Given the description of an element on the screen output the (x, y) to click on. 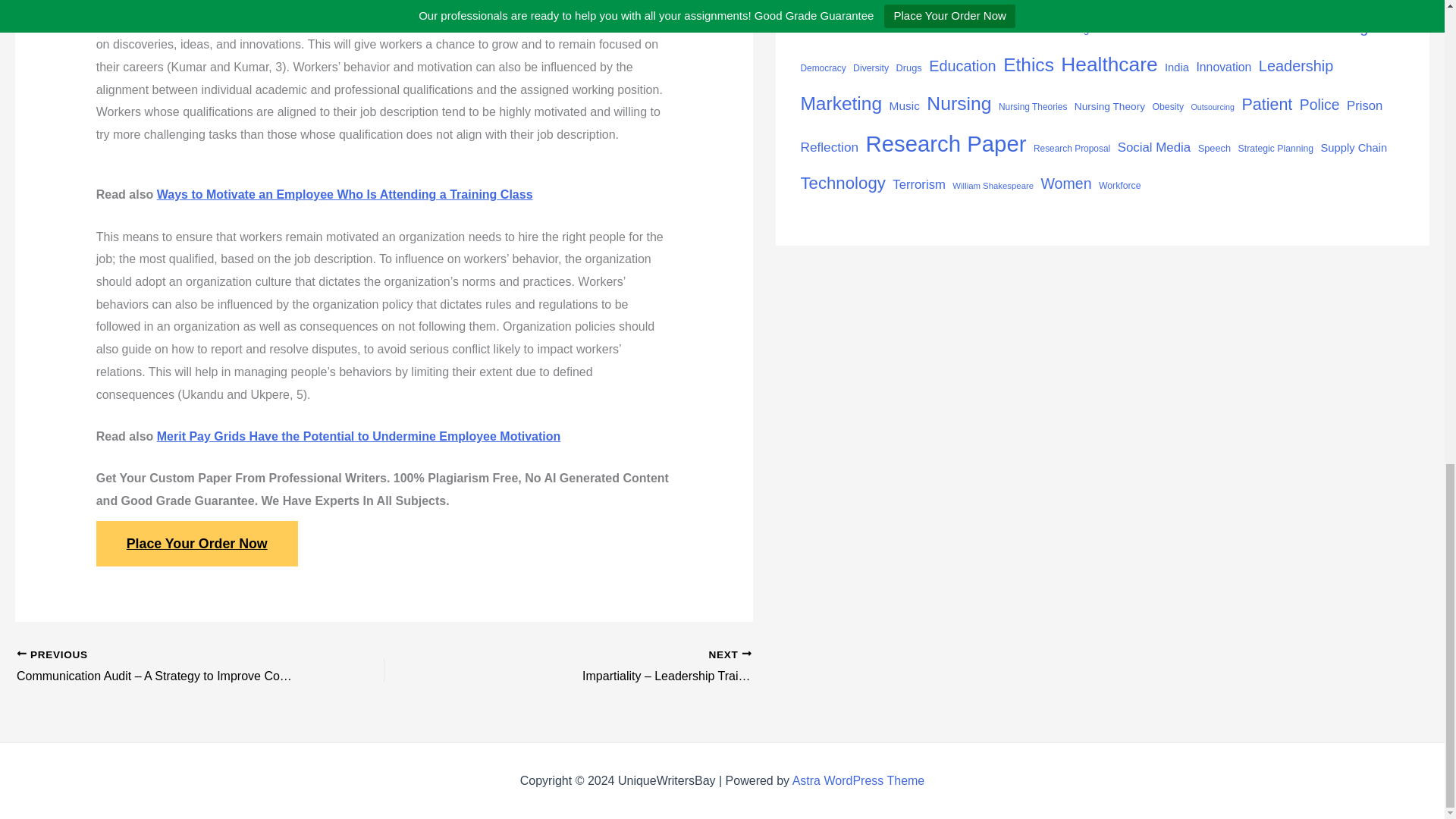
Place Your Order Now (197, 543)
Communication (861, 27)
Contract (1007, 28)
Australia (1016, 2)
Criminal Justice (1200, 27)
Argumentative Essay (942, 4)
Crime (1120, 27)
Change Management (1202, 2)
Annotated Bibliography (841, 2)
Book Review (1075, 4)
